Given the description of an element on the screen output the (x, y) to click on. 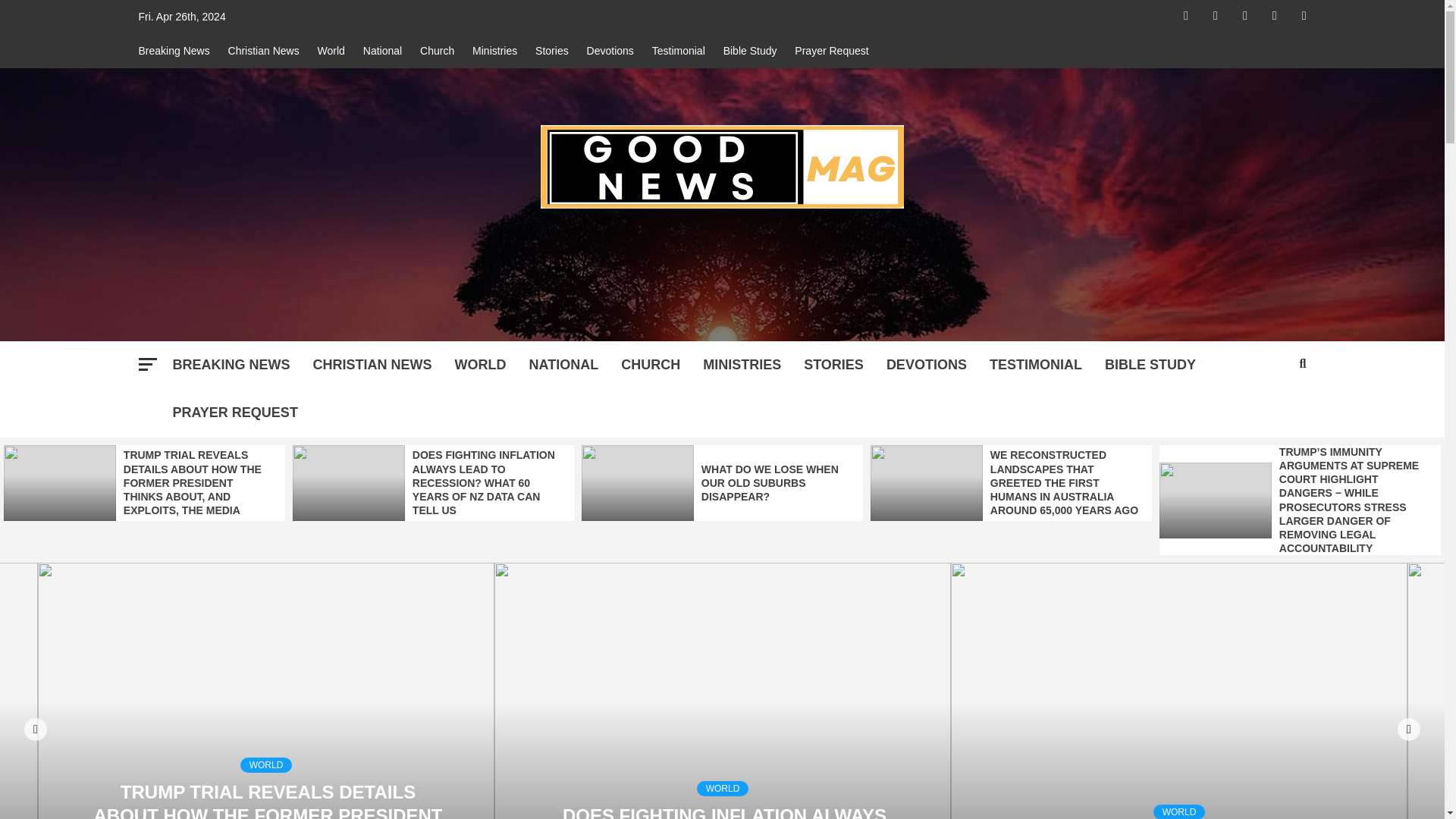
DEVOTIONS (926, 365)
NATIONAL (563, 365)
Church (436, 50)
World (331, 50)
Ministries (494, 50)
CHRISTIAN NEWS (372, 365)
STORIES (833, 365)
WORLD (481, 365)
TESTIMONIAL (1035, 365)
Bible Study (750, 50)
Breaking News (177, 50)
Prayer Request (831, 50)
Stories (551, 50)
Testimonial (679, 50)
